Given the description of an element on the screen output the (x, y) to click on. 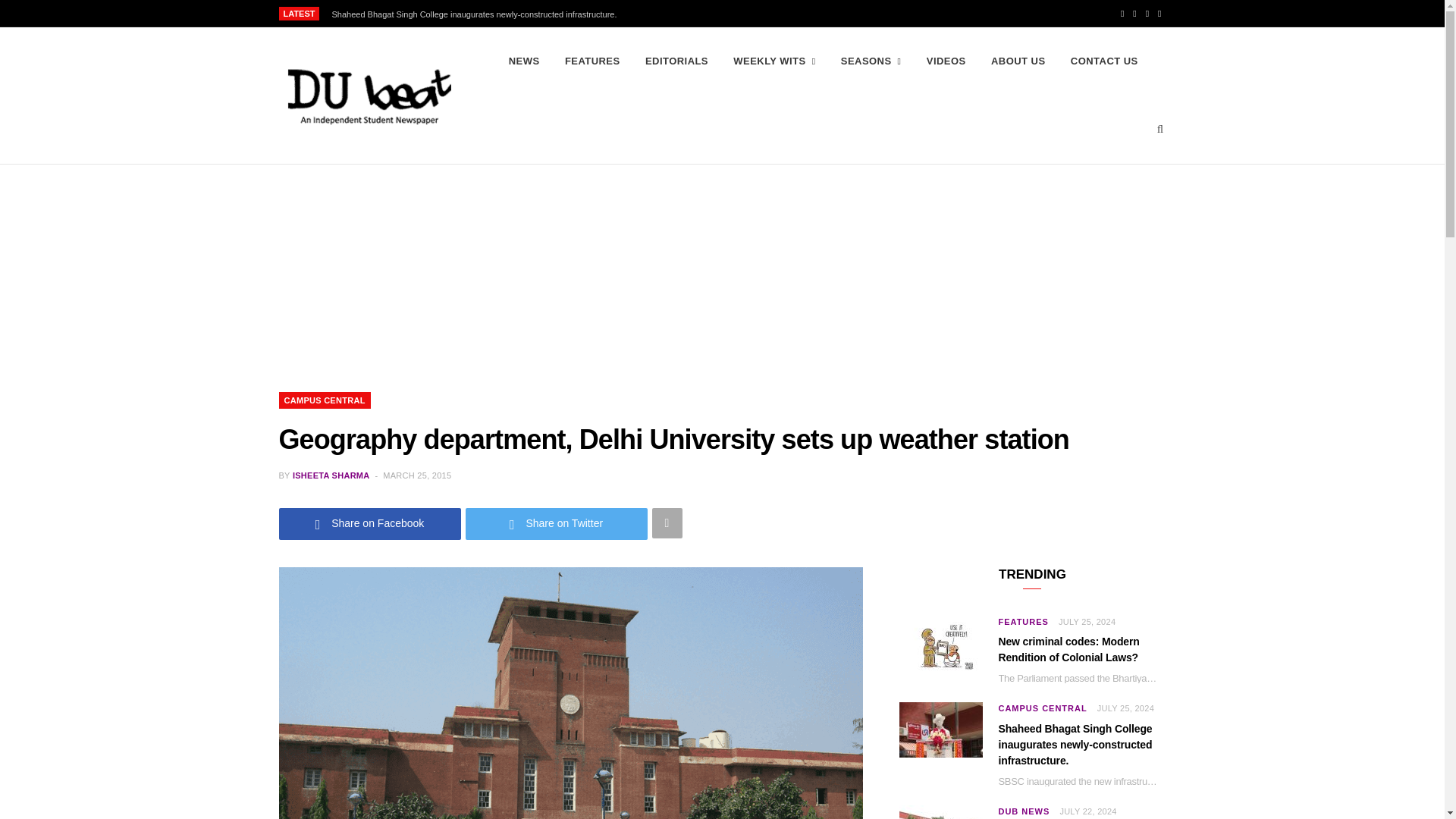
FEATURES (592, 61)
WEEKLY WITS (774, 61)
EDITORIALS (676, 61)
